Given the description of an element on the screen output the (x, y) to click on. 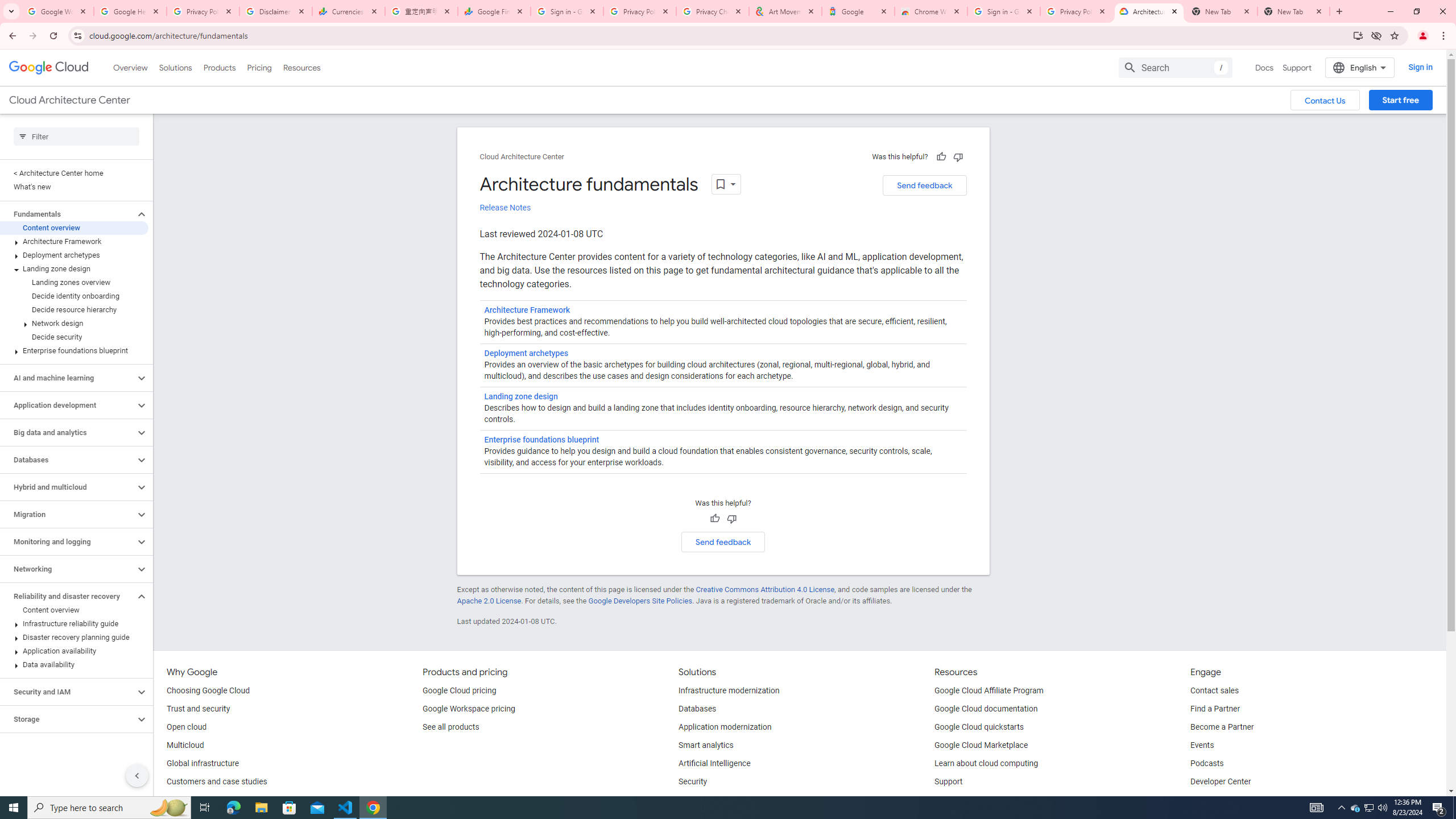
Privacy Checkup (712, 11)
Not helpful (731, 518)
Architecture Framework (74, 241)
Choosing Google Cloud (207, 691)
Networking (67, 568)
Contact sales (1215, 691)
Infrastructure modernization (729, 691)
Release Notes (505, 208)
Google Developers Site Policies (639, 600)
